Given the description of an element on the screen output the (x, y) to click on. 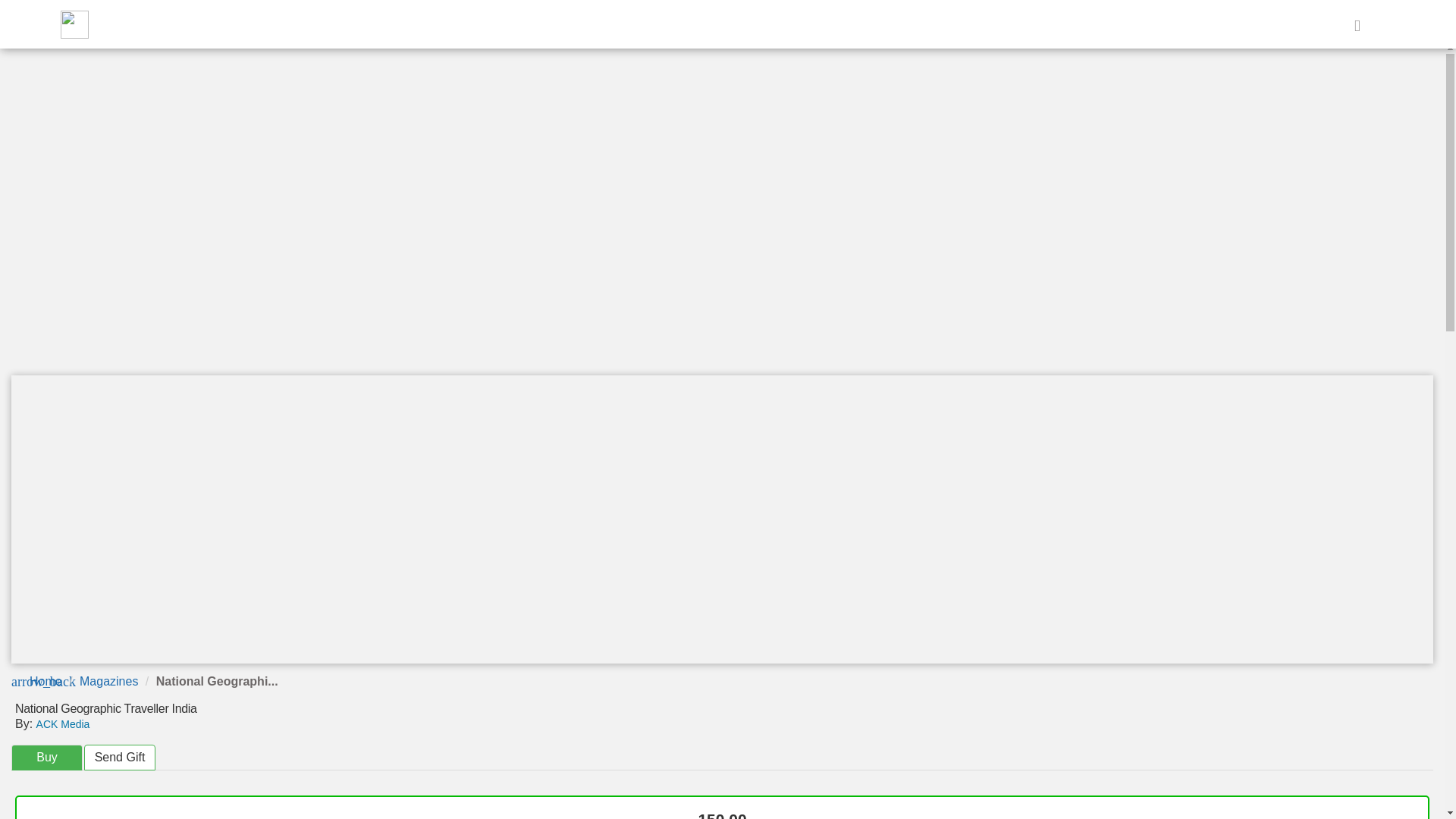
Magazines (109, 680)
National Geographi... (216, 680)
Send Gift (119, 757)
Home (45, 680)
ACK Media (63, 724)
Buy (46, 757)
